Given the description of an element on the screen output the (x, y) to click on. 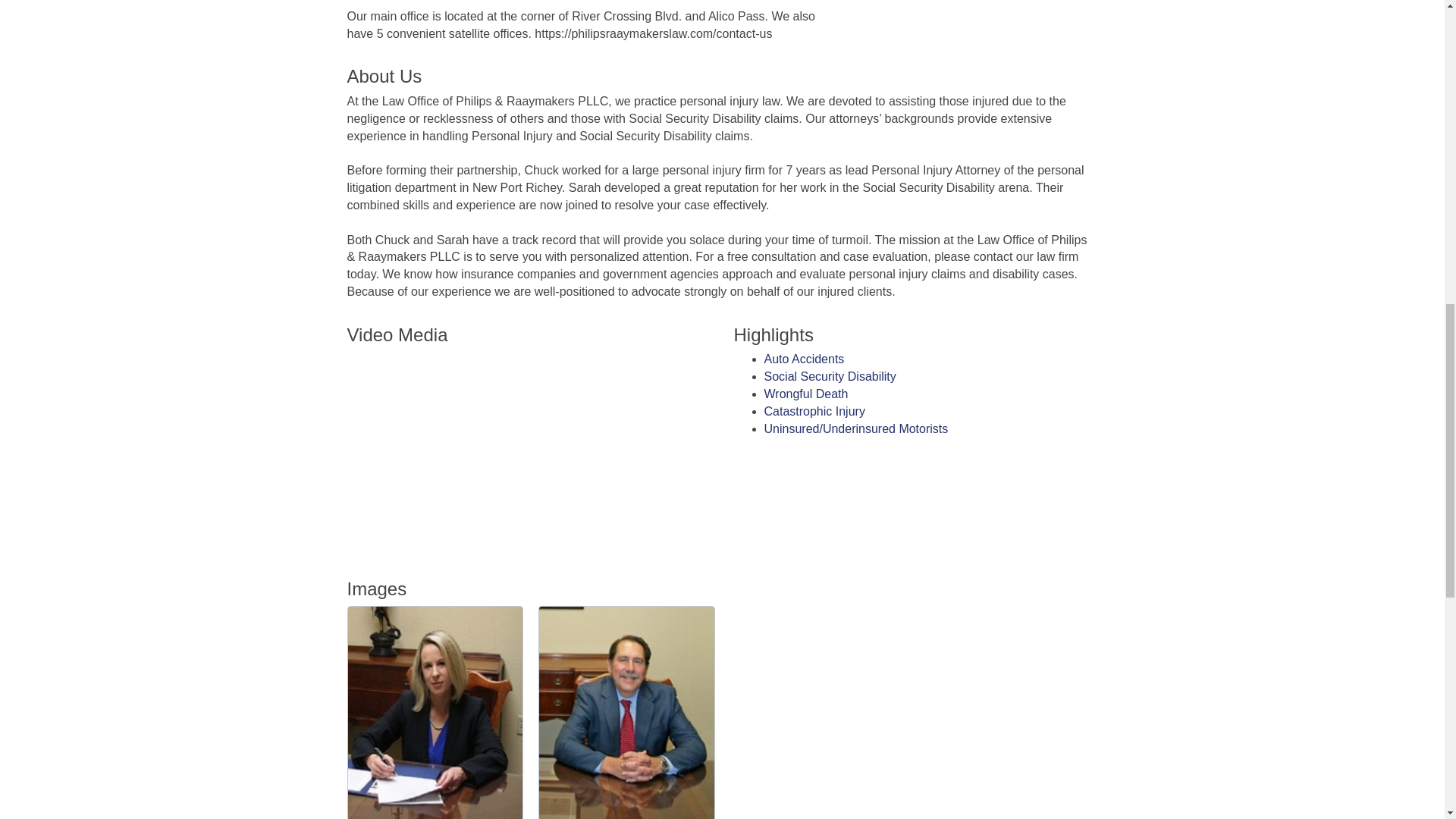
Social Security Disability (830, 376)
Auto Accidents (804, 358)
